Given the description of an element on the screen output the (x, y) to click on. 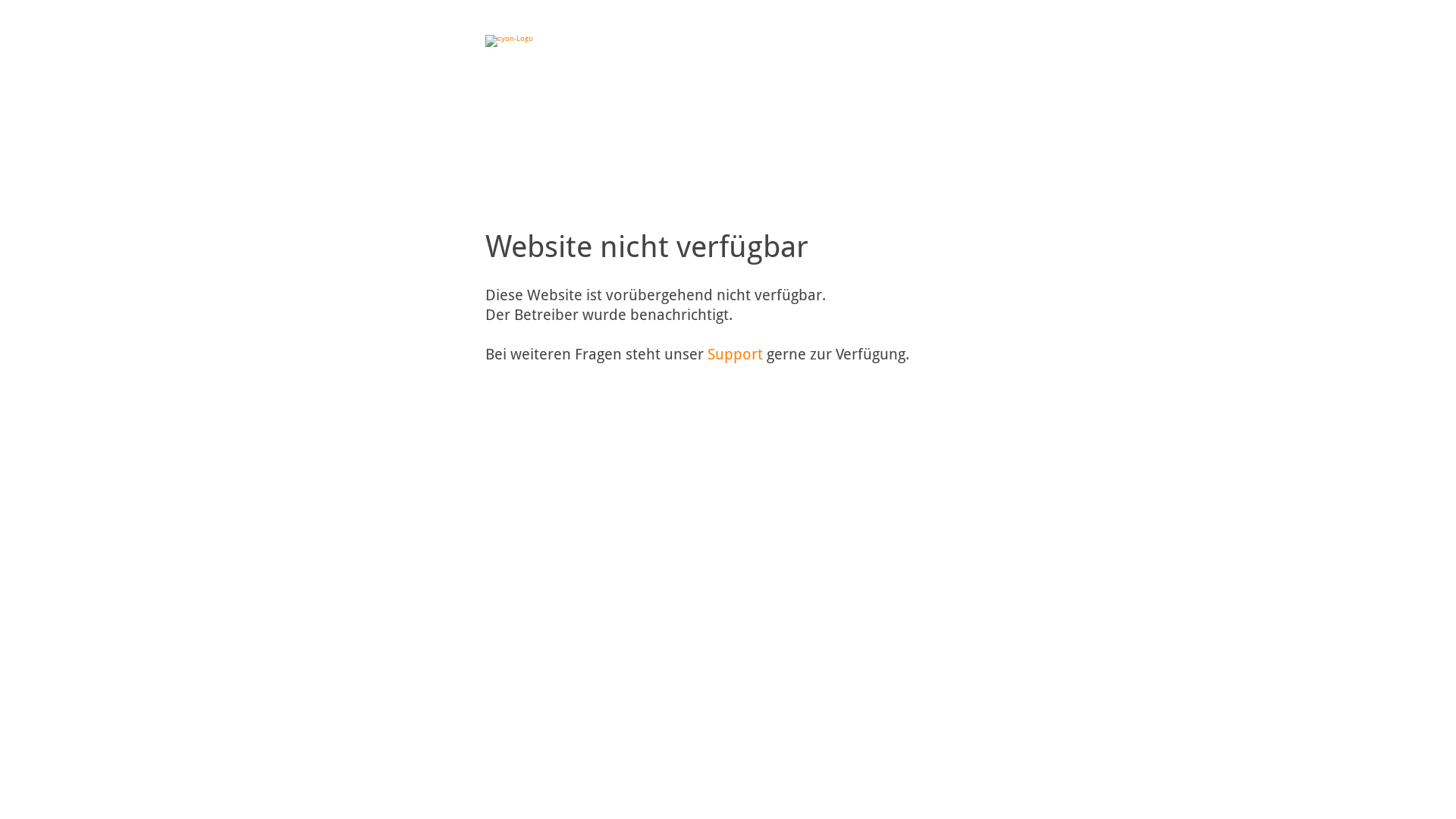
Support Element type: text (734, 354)
